Given the description of an element on the screen output the (x, y) to click on. 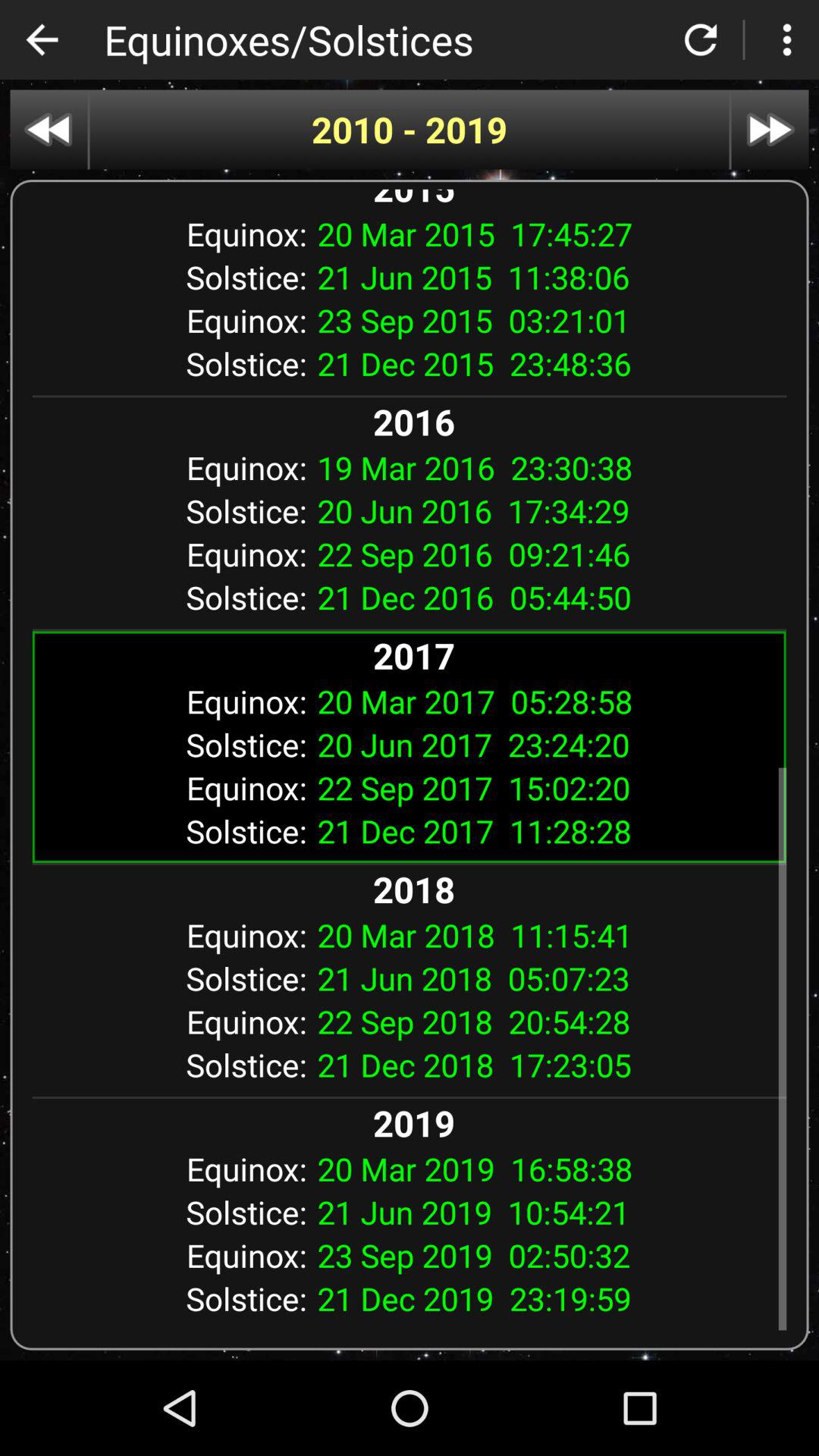
go back (41, 39)
